Given the description of an element on the screen output the (x, y) to click on. 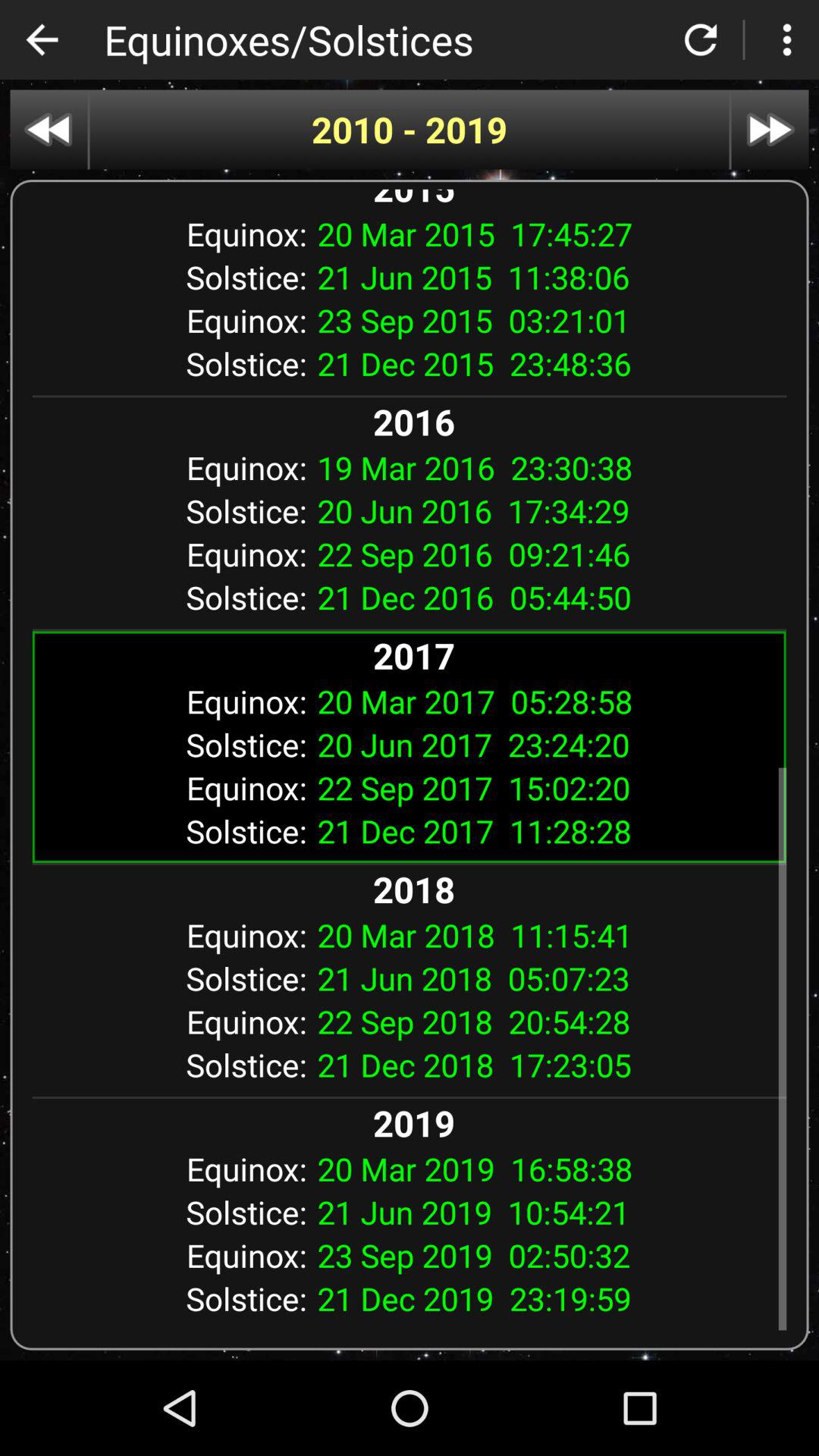
go back (41, 39)
